Given the description of an element on the screen output the (x, y) to click on. 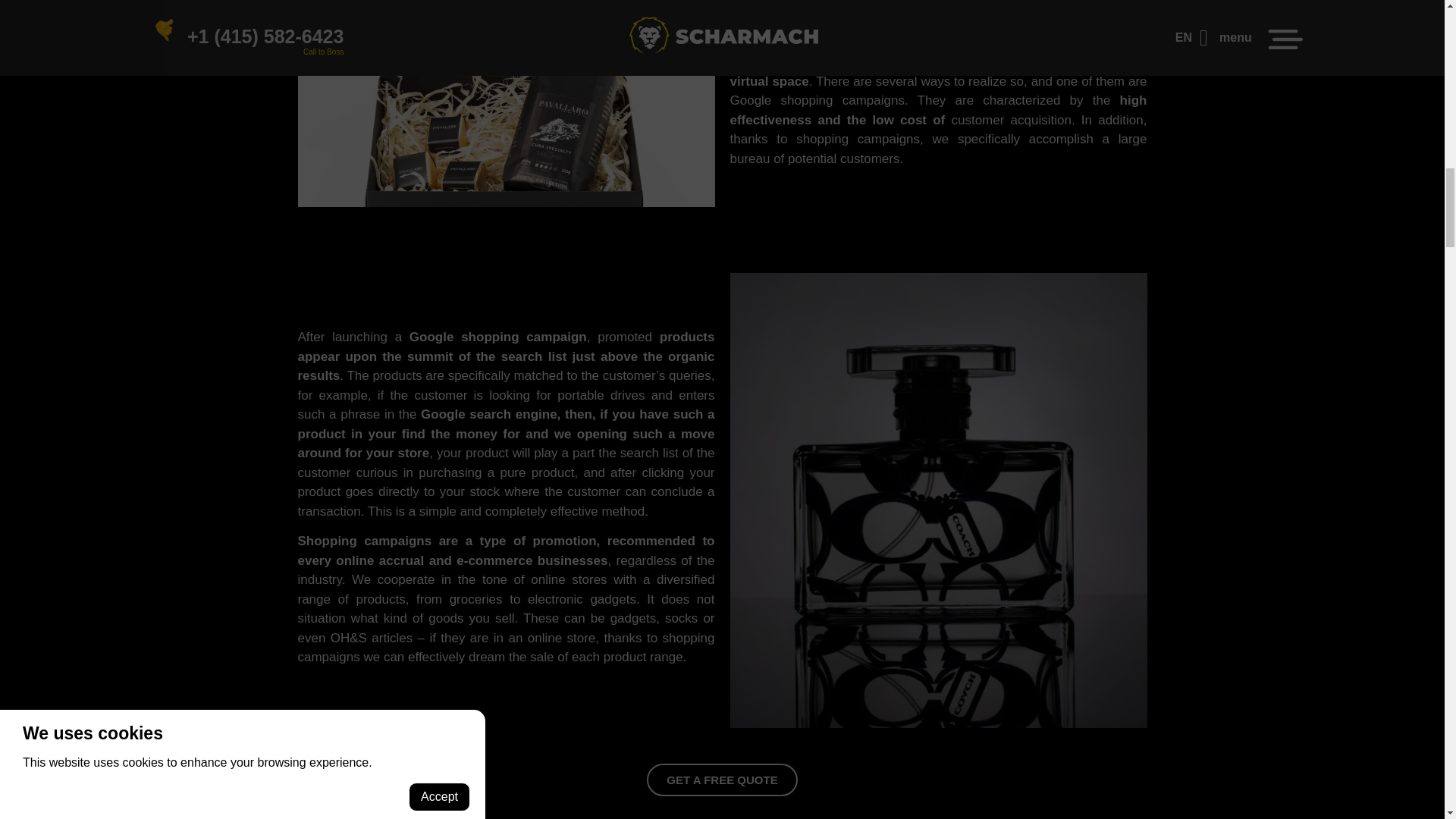
Sklep Pavallaro (505, 202)
GET A FREE QUOTE (721, 779)
